Given the description of an element on the screen output the (x, y) to click on. 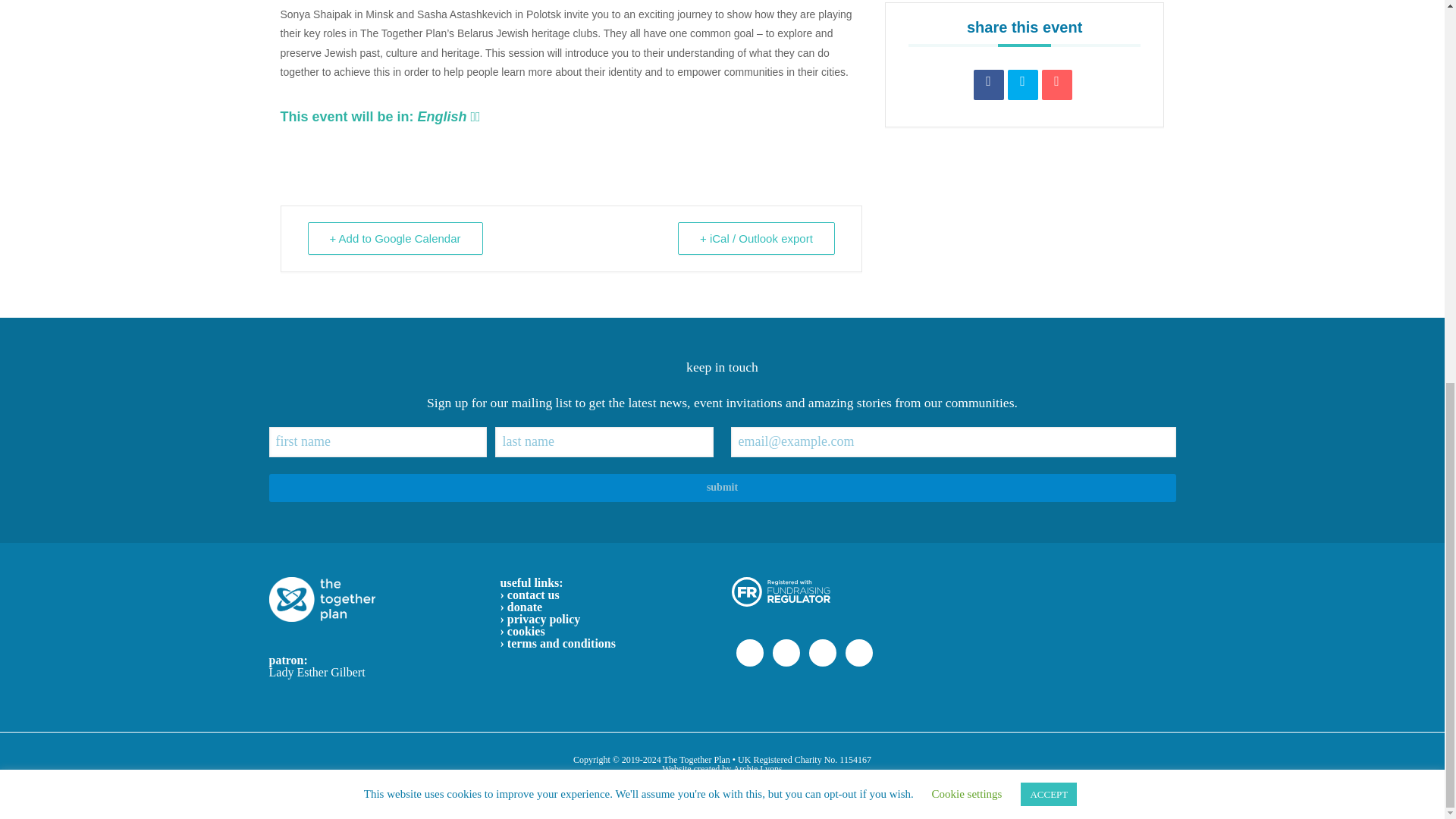
Tweet (1022, 84)
submit (720, 488)
Share on Facebook (989, 84)
Email (1056, 84)
